Given the description of an element on the screen output the (x, y) to click on. 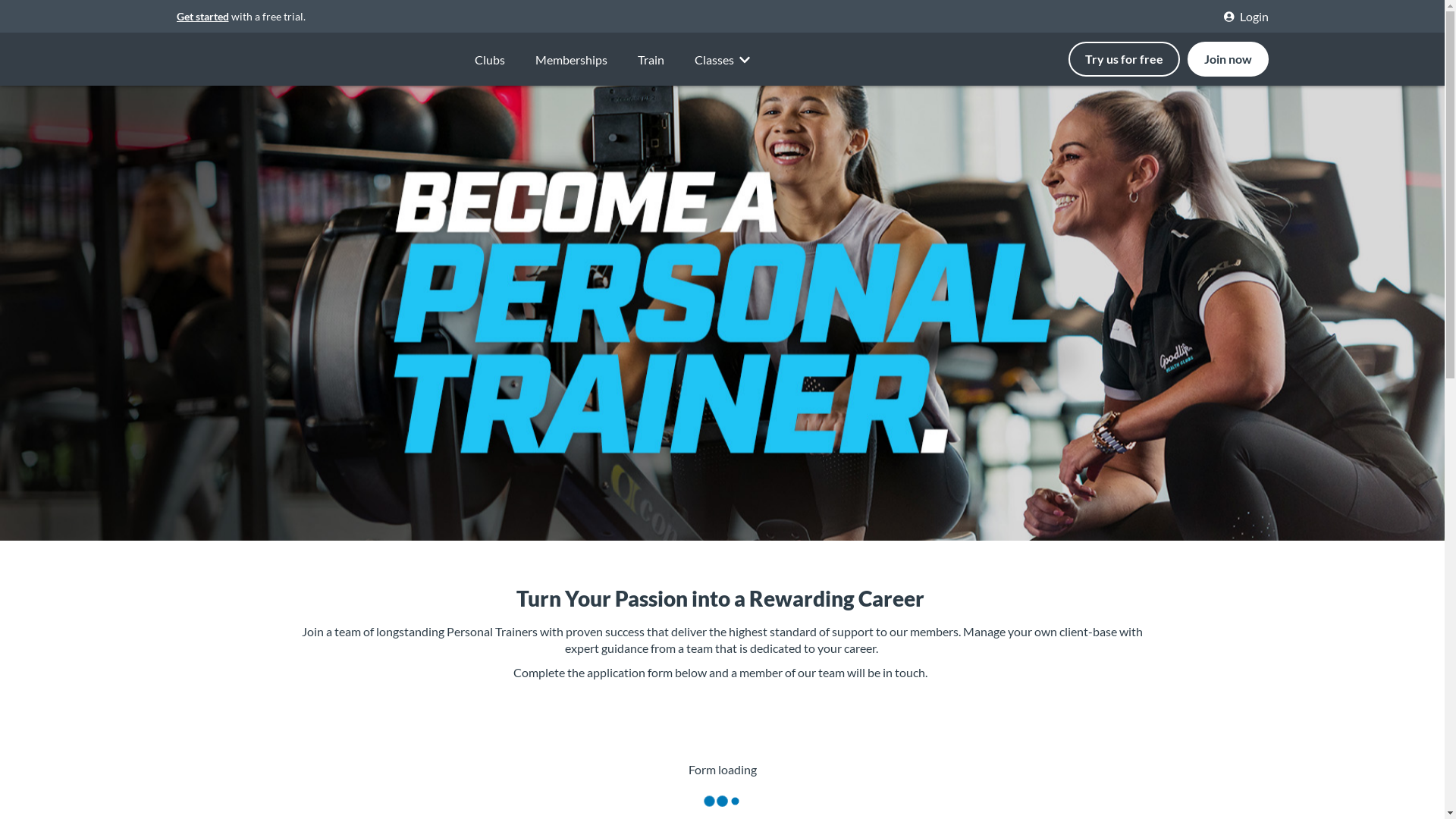
Join now Element type: text (1227, 59)
Login Element type: text (1247, 16)
Join now Element type: text (1227, 58)
Try us for free Element type: text (1126, 59)
Get started Element type: text (201, 15)
Try us for free Element type: text (1123, 58)
